Given the description of an element on the screen output the (x, y) to click on. 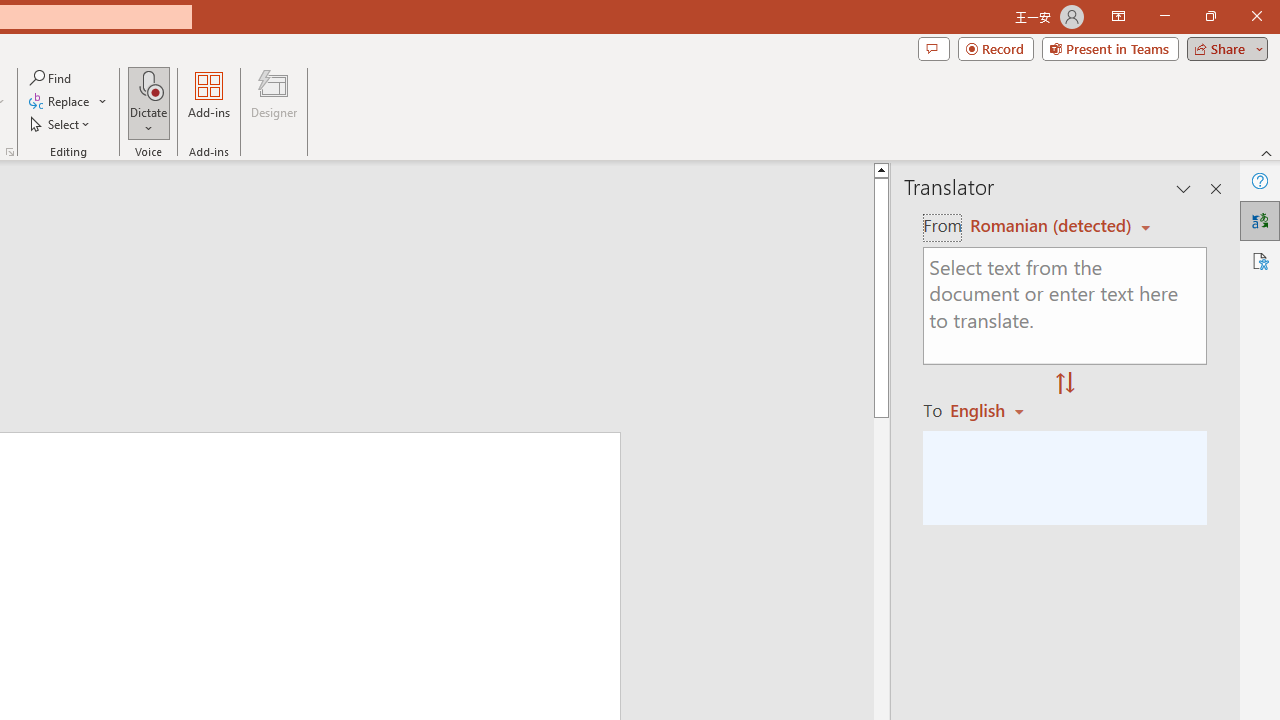
Romanian (detected) (1047, 225)
Swap "from" and "to" languages. (1065, 383)
